Given the description of an element on the screen output the (x, y) to click on. 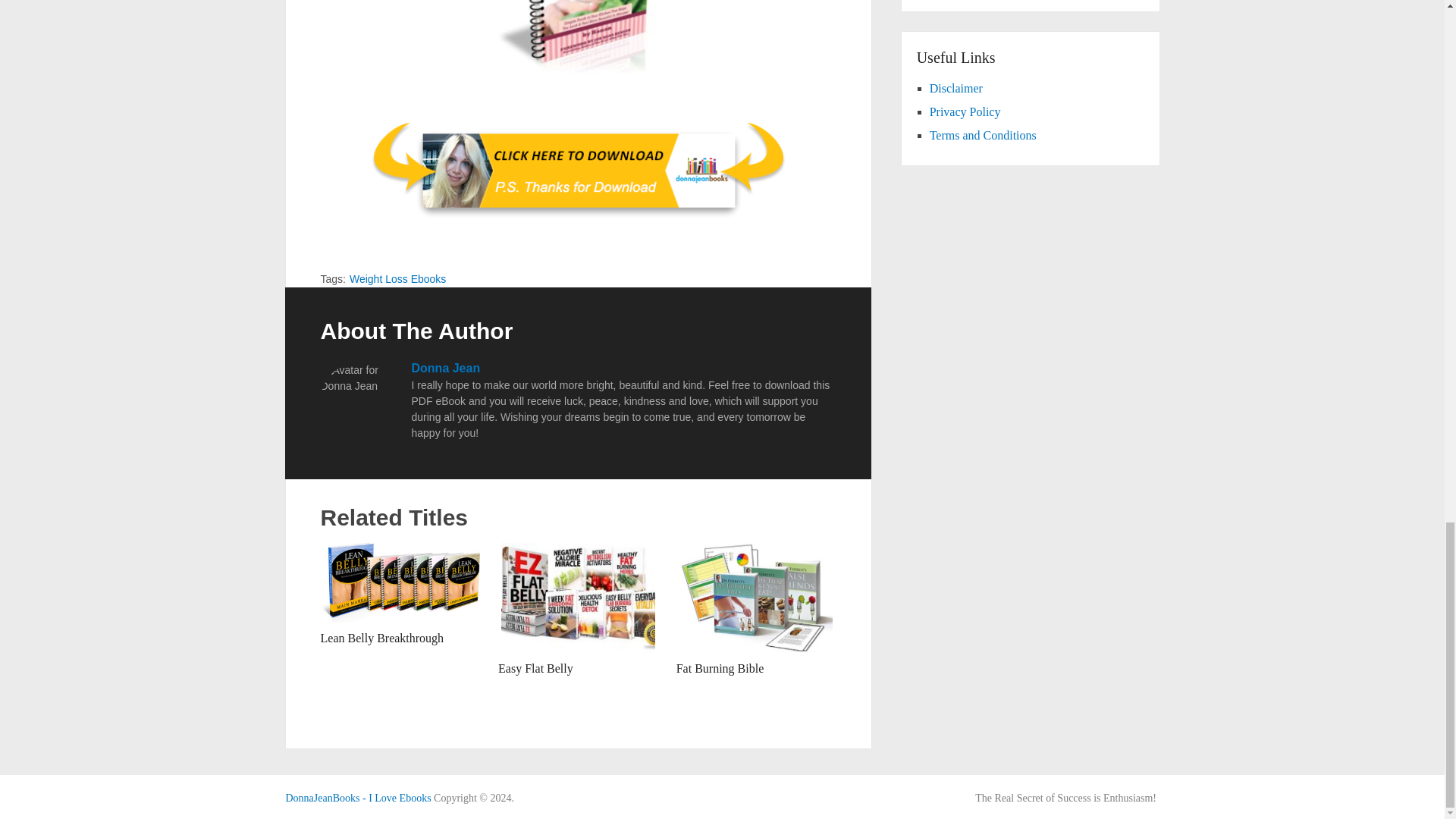
Fat Burning Bible (756, 597)
Fat Burning Bible (720, 667)
Easy Flat Belly (577, 597)
Gravatar for Donna Jean (358, 400)
Fat Burning Bible (720, 667)
Lean Belly Breakthrough (382, 637)
Donna Jean (445, 367)
Lean Belly Breakthrough (400, 582)
Easy Flat Belly (535, 667)
Weight Loss Ebooks (397, 278)
Easy Flat Belly (535, 667)
Lean Belly Breakthrough (382, 637)
